Given the description of an element on the screen output the (x, y) to click on. 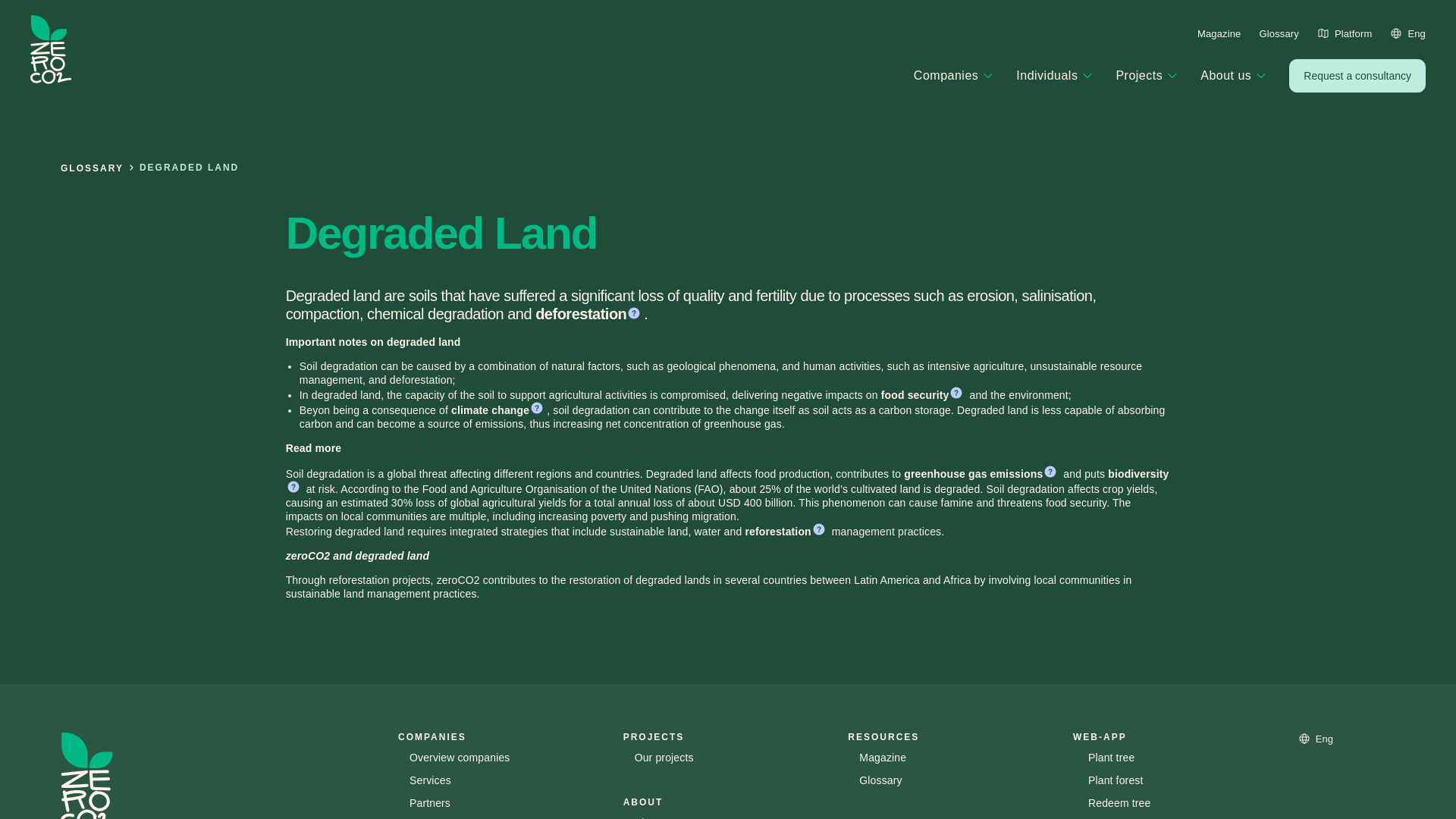
Magazine (1218, 33)
Request a consultancy (1356, 75)
Glossary (1278, 33)
